Given the description of an element on the screen output the (x, y) to click on. 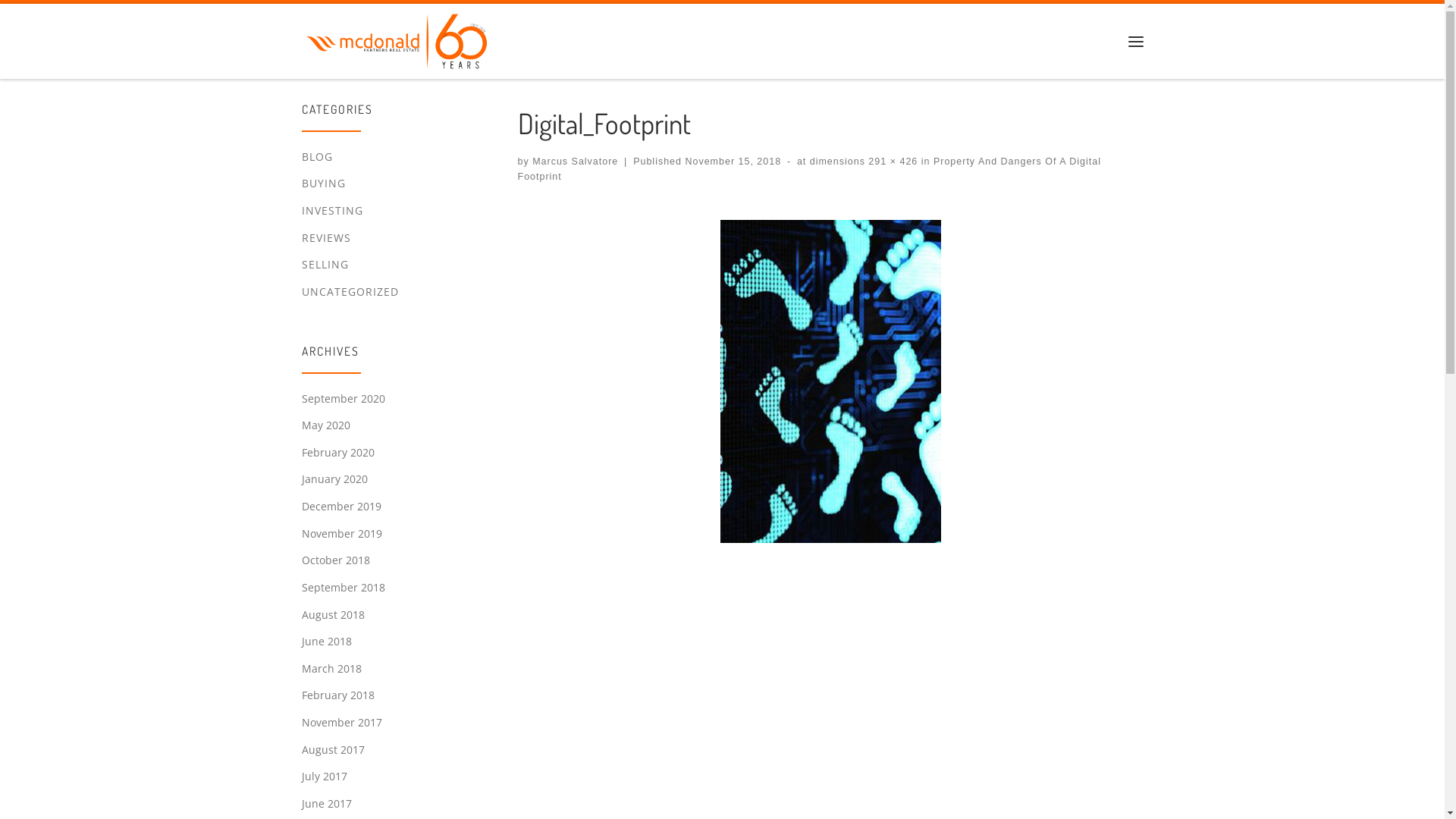
BUYING Element type: text (323, 183)
REVIEWS Element type: text (326, 238)
August 2017 Element type: text (332, 750)
Digital_Footprint Element type: hover (830, 380)
October 2018 Element type: text (335, 560)
UNCATEGORIZED Element type: text (349, 292)
July 2017 Element type: text (324, 776)
February 2020 Element type: text (337, 452)
Property And Dangers Of A Digital Footprint Element type: text (808, 169)
INVESTING Element type: text (332, 210)
September 2018 Element type: text (343, 587)
January 2020 Element type: text (334, 479)
August 2018 Element type: text (332, 615)
March 2018 Element type: text (331, 668)
November 2019 Element type: text (341, 534)
SELLING Element type: text (324, 264)
BLOG Element type: text (316, 157)
November 2017 Element type: text (341, 722)
June 2017 Element type: text (326, 803)
February 2018 Element type: text (337, 695)
Marcus Salvatore Element type: text (575, 161)
September 2020 Element type: text (343, 398)
May 2020 Element type: text (325, 425)
June 2018 Element type: text (326, 641)
December 2019 Element type: text (341, 506)
